Given the description of an element on the screen output the (x, y) to click on. 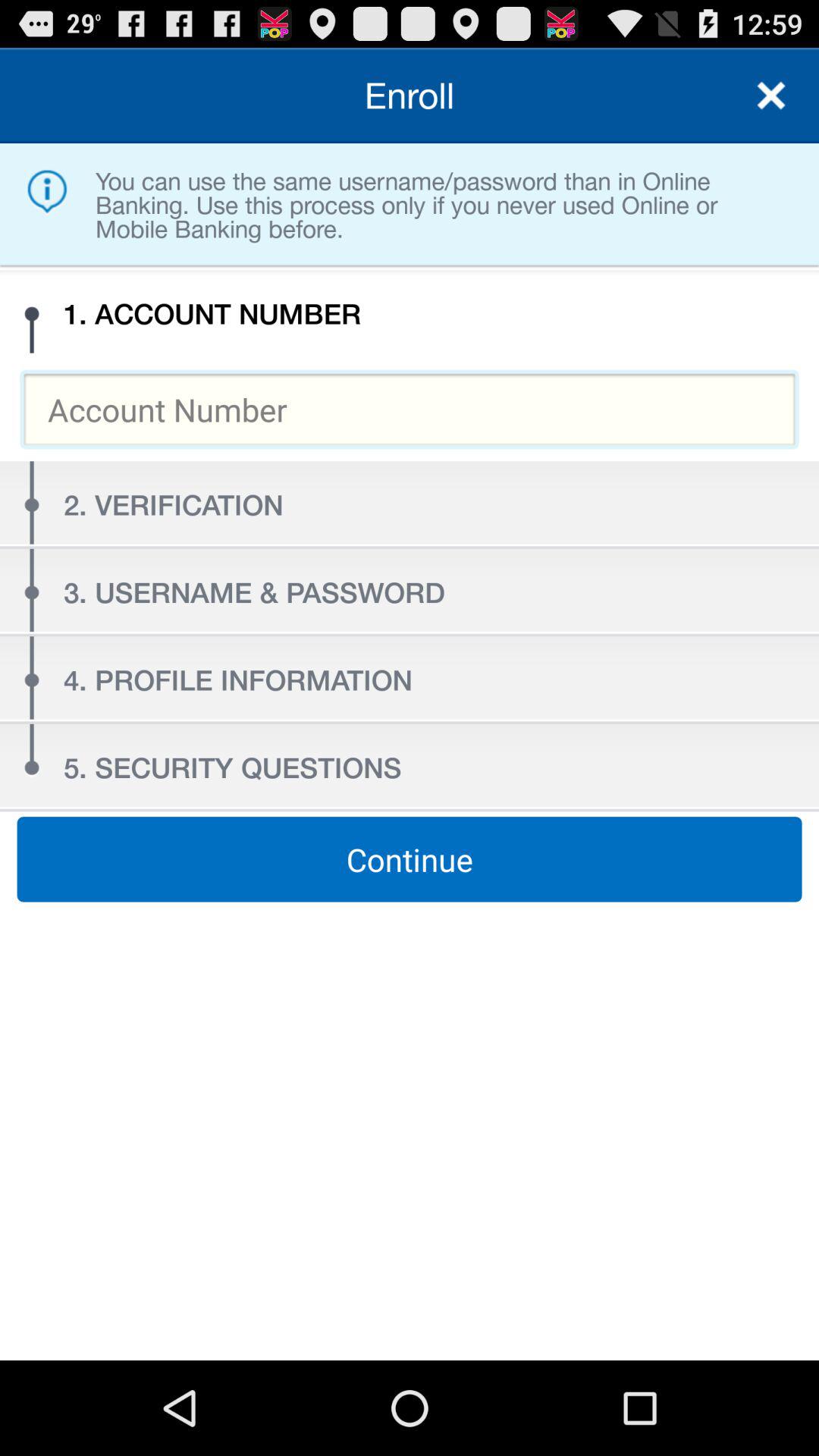
turn off the enroll (409, 95)
